Given the description of an element on the screen output the (x, y) to click on. 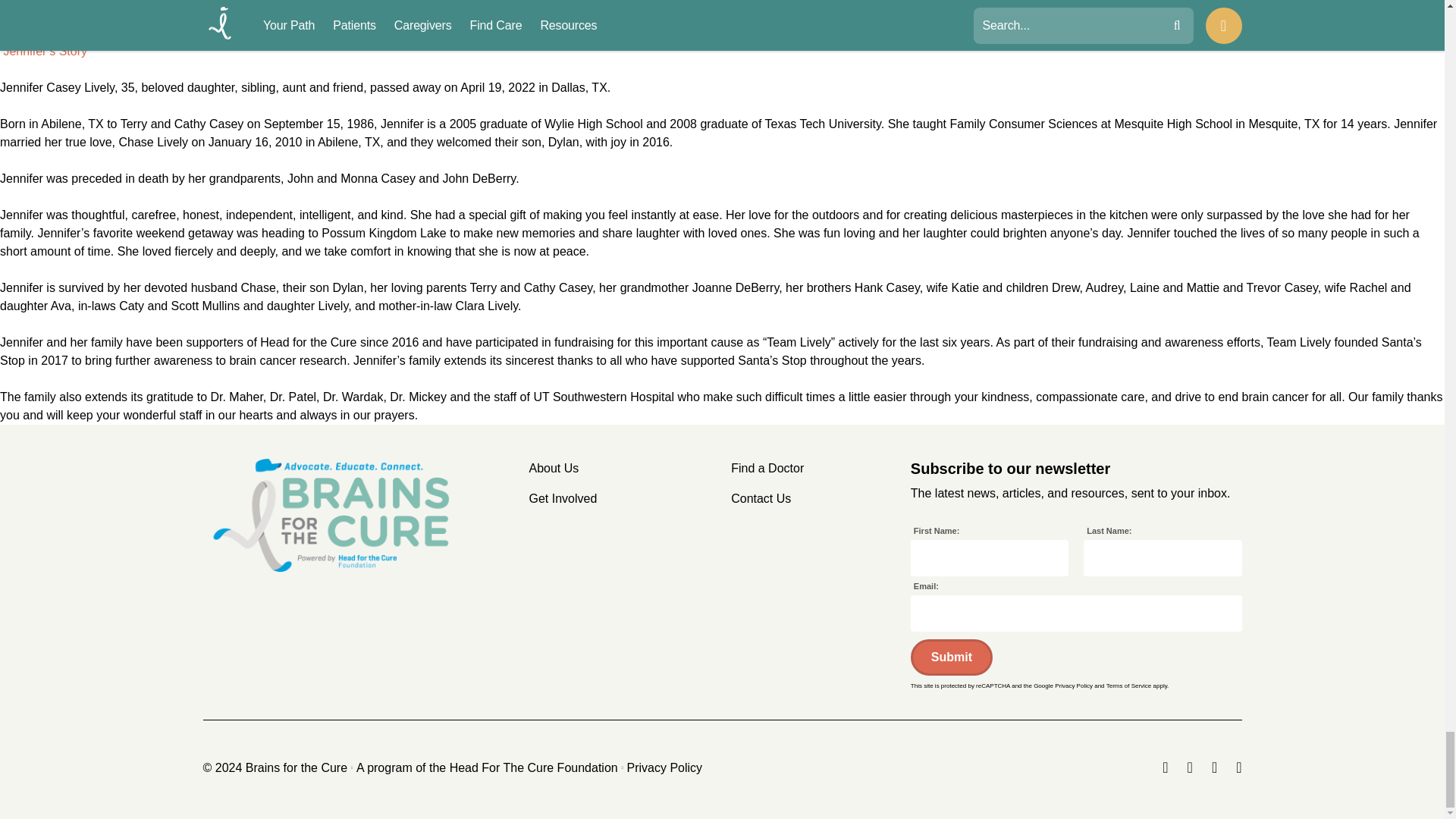
About Us (554, 467)
Contact Us (760, 497)
Privacy Policy (1073, 686)
Submit (951, 657)
Submit (951, 657)
Find a Doctor (766, 467)
Terms of Service (1128, 686)
Get Involved (562, 497)
Get Involved (562, 497)
Privacy Policy (665, 767)
Contact Us (760, 497)
Find a Doctor (766, 467)
Privacy Policy (665, 767)
About Us (554, 467)
